Given the description of an element on the screen output the (x, y) to click on. 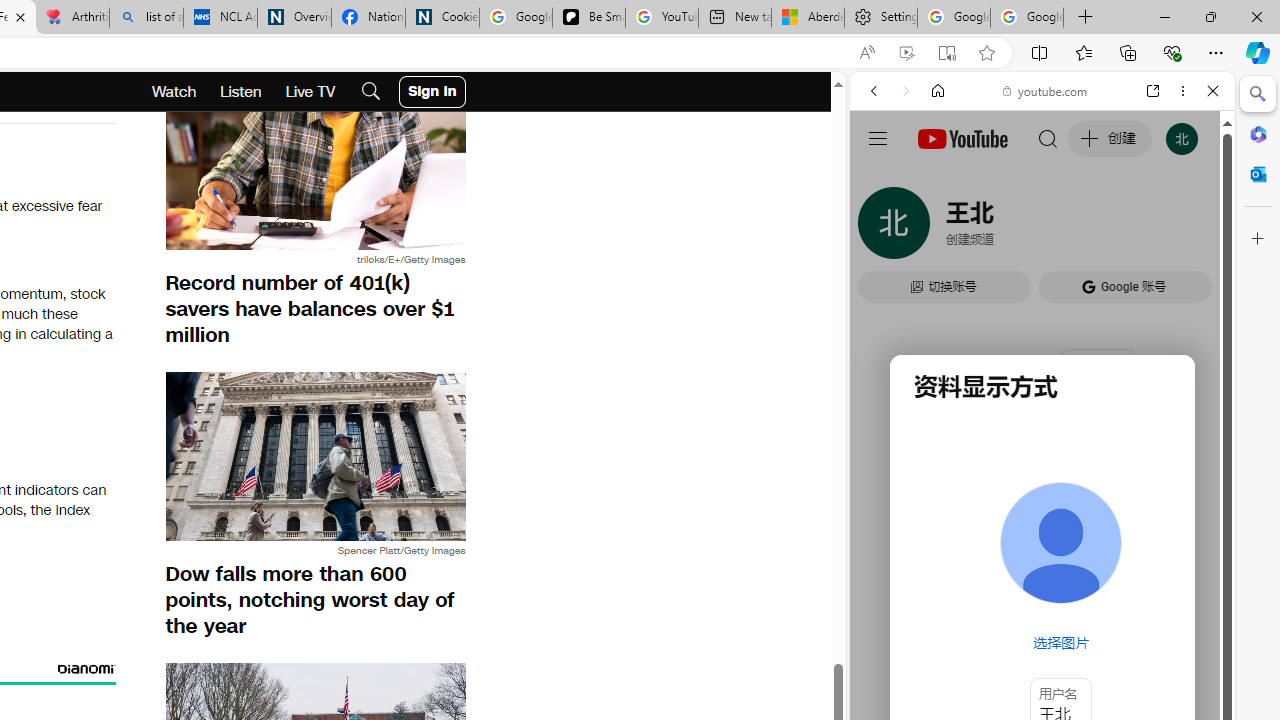
Search the web (1051, 137)
Open link in new tab (1153, 91)
GettyImages-959095538 copy.jpg triloks/E+/Getty Images (315, 175)
Trailer #2 [HD] (1042, 594)
Microsoft 365 (1258, 133)
Enter Immersive Reader (F9) (946, 53)
Read aloud this page (Ctrl+Shift+U) (867, 53)
Live TV (310, 92)
Search Filter, IMAGES (939, 228)
Home (938, 91)
